Given the description of an element on the screen output the (x, y) to click on. 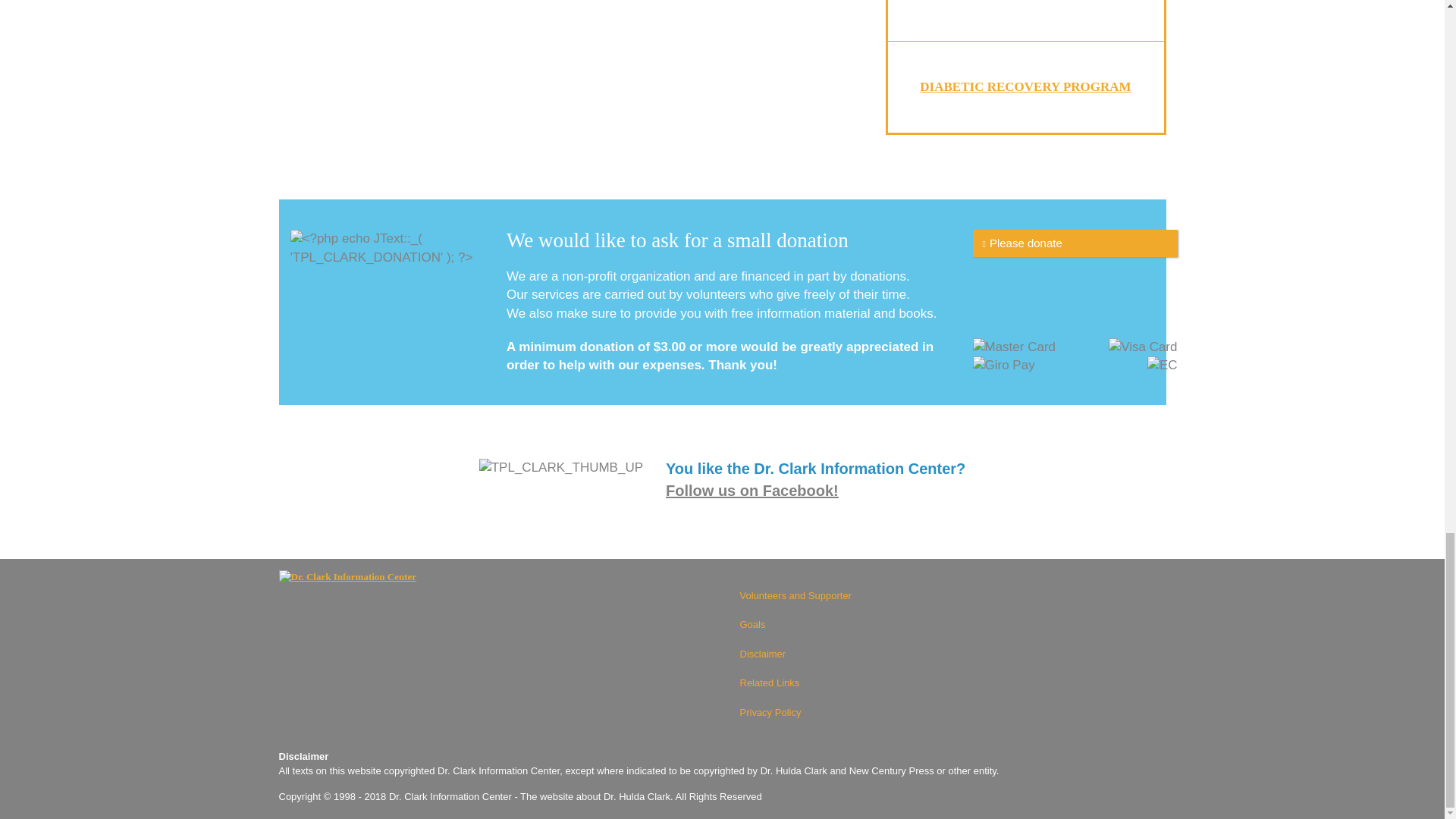
Master Card (1013, 346)
PayPal - The safer, easier way to pay online! (1074, 243)
DIABETIC RECOVERY PROGRAM (1025, 86)
Visa Card (1142, 346)
Giro Pay (1002, 365)
EC (1162, 365)
